Given the description of an element on the screen output the (x, y) to click on. 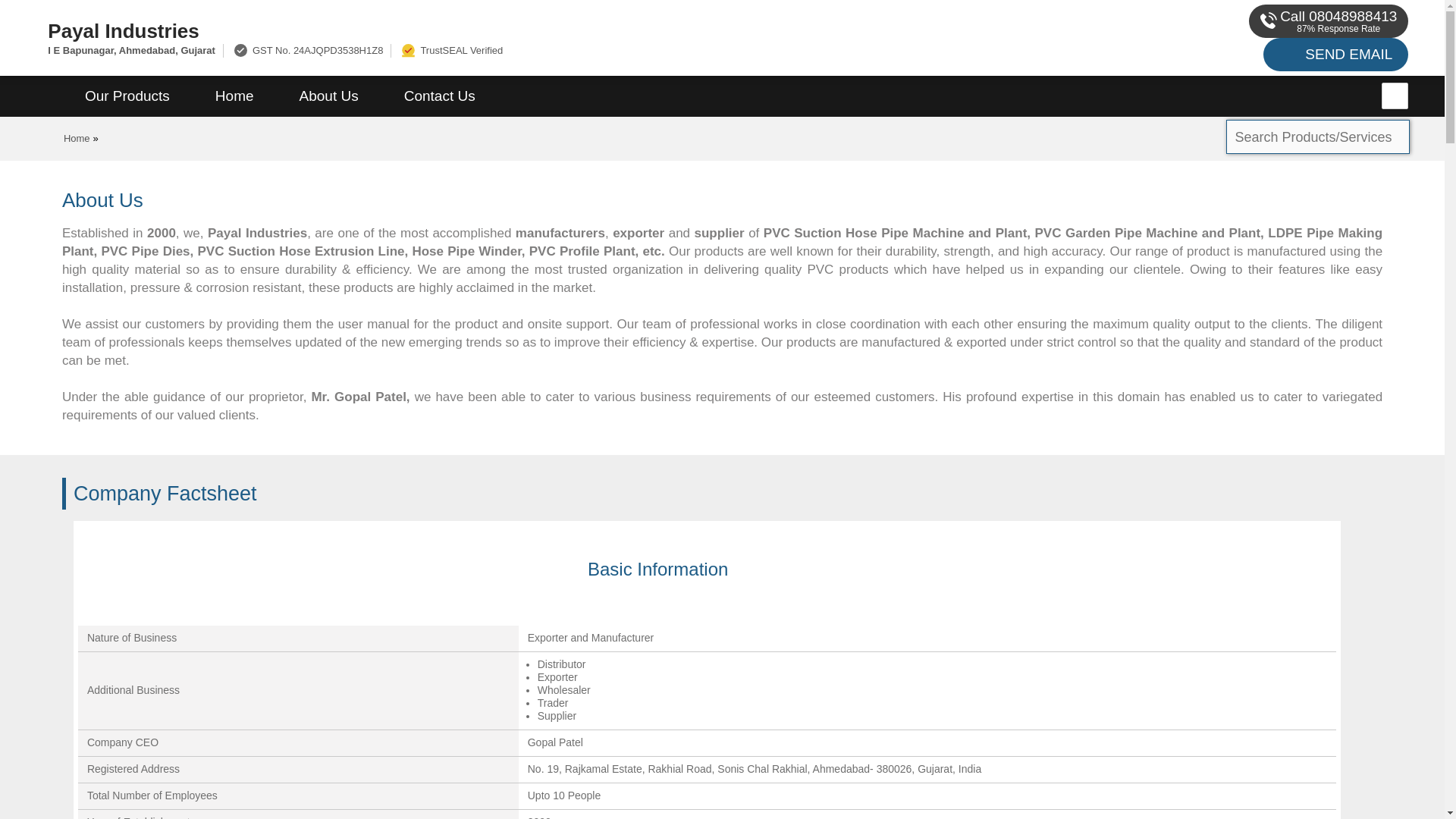
Payal Industries (485, 31)
Contact Us (439, 96)
Home (77, 138)
Our Products (127, 96)
Home (234, 96)
About Us (328, 96)
